Given the description of an element on the screen output the (x, y) to click on. 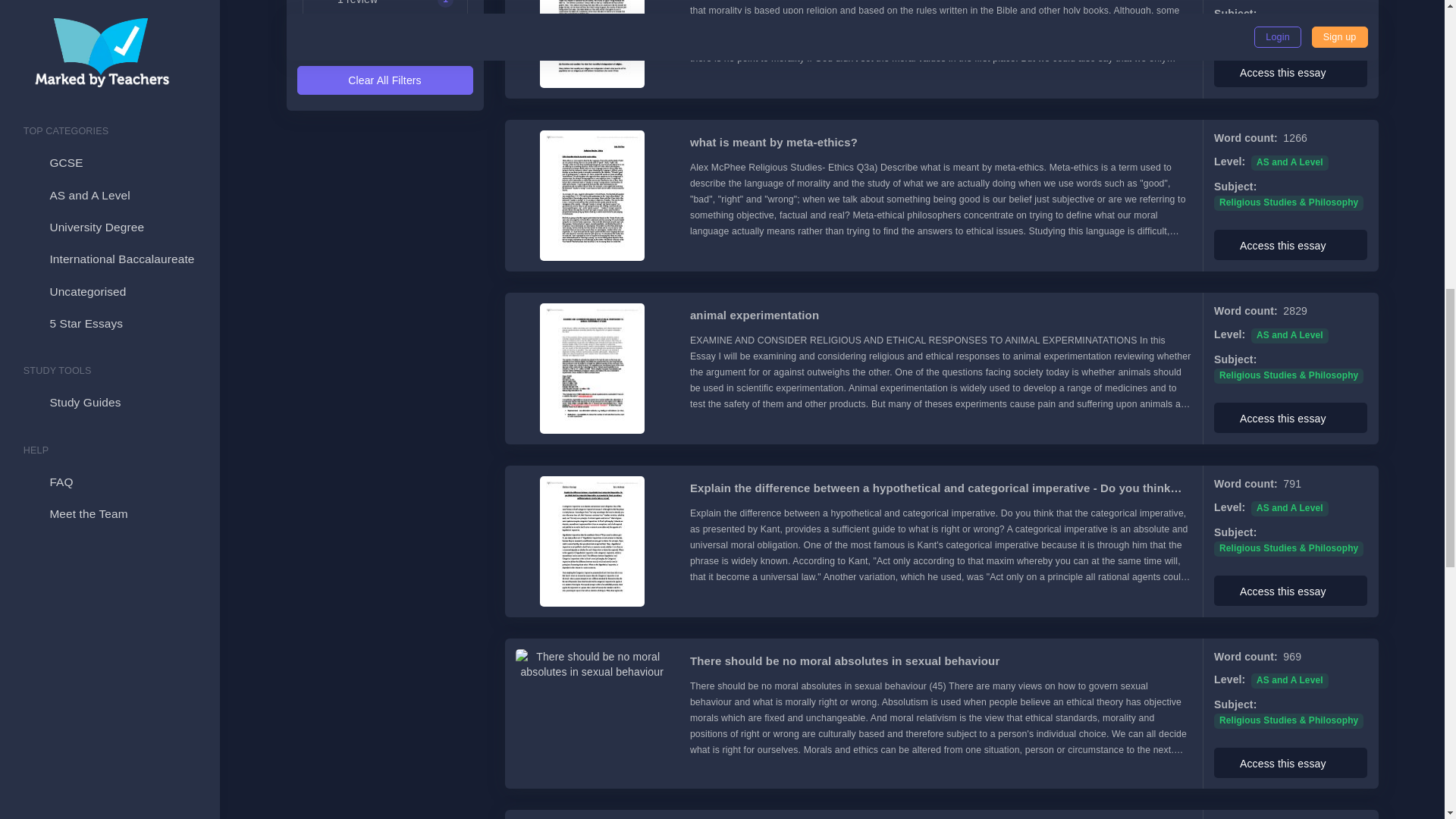
Access this essay (1290, 71)
Access this essay (1290, 245)
what is meant by meta-ethics? (941, 142)
